Given the description of an element on the screen output the (x, y) to click on. 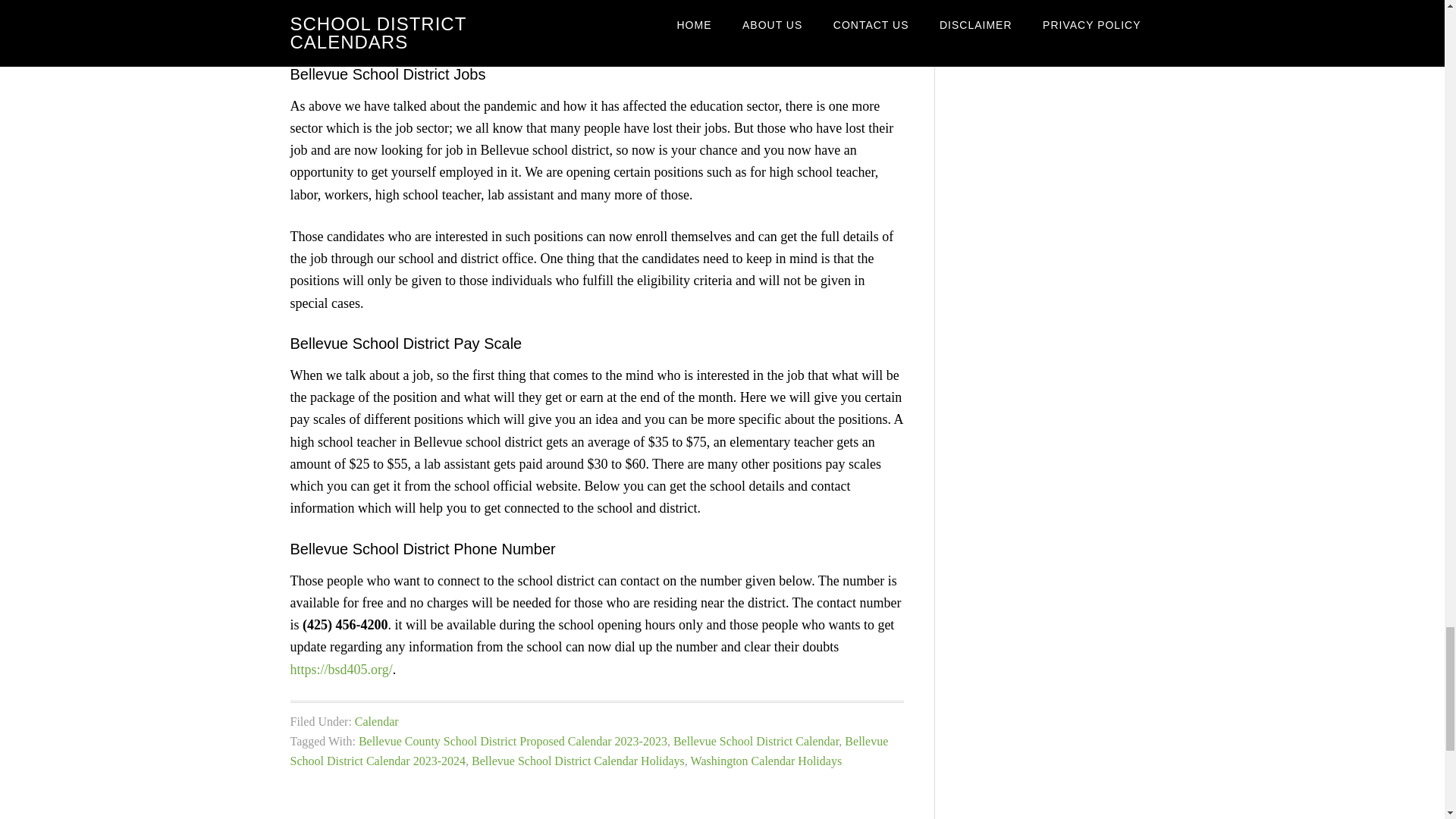
Calendar (376, 721)
Bellevue School District Calendar Holidays (577, 760)
Bellevue School District Calendar (755, 740)
Washington Calendar Holidays (766, 760)
Bellevue County School District Proposed Calendar 2023-2023 (512, 740)
Bellevue School District Calendar 2023-2024 (588, 750)
